Given the description of an element on the screen output the (x, y) to click on. 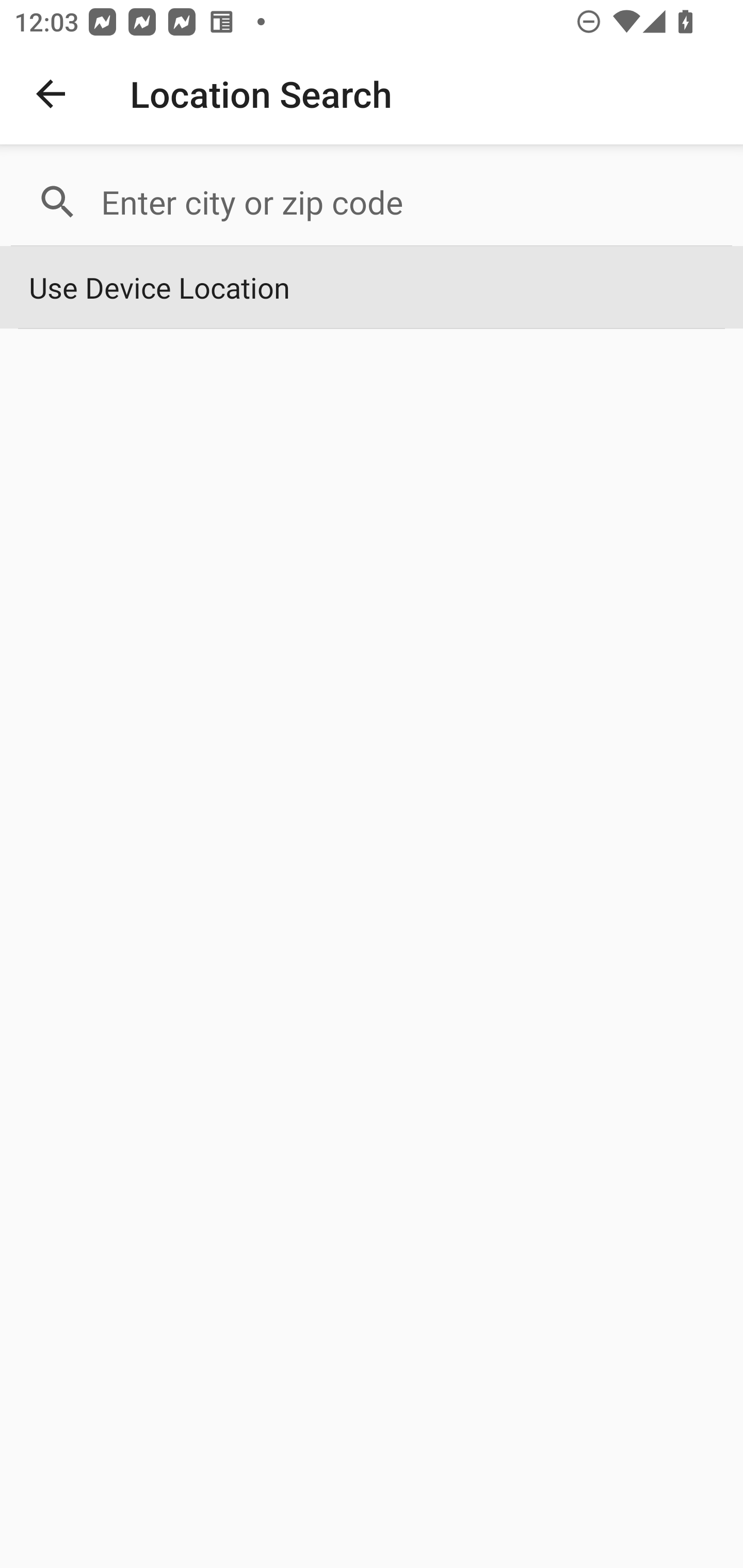
Navigate up (50, 93)
Enter city or zip code (407, 202)
Use Device Location (371, 287)
